Given the description of an element on the screen output the (x, y) to click on. 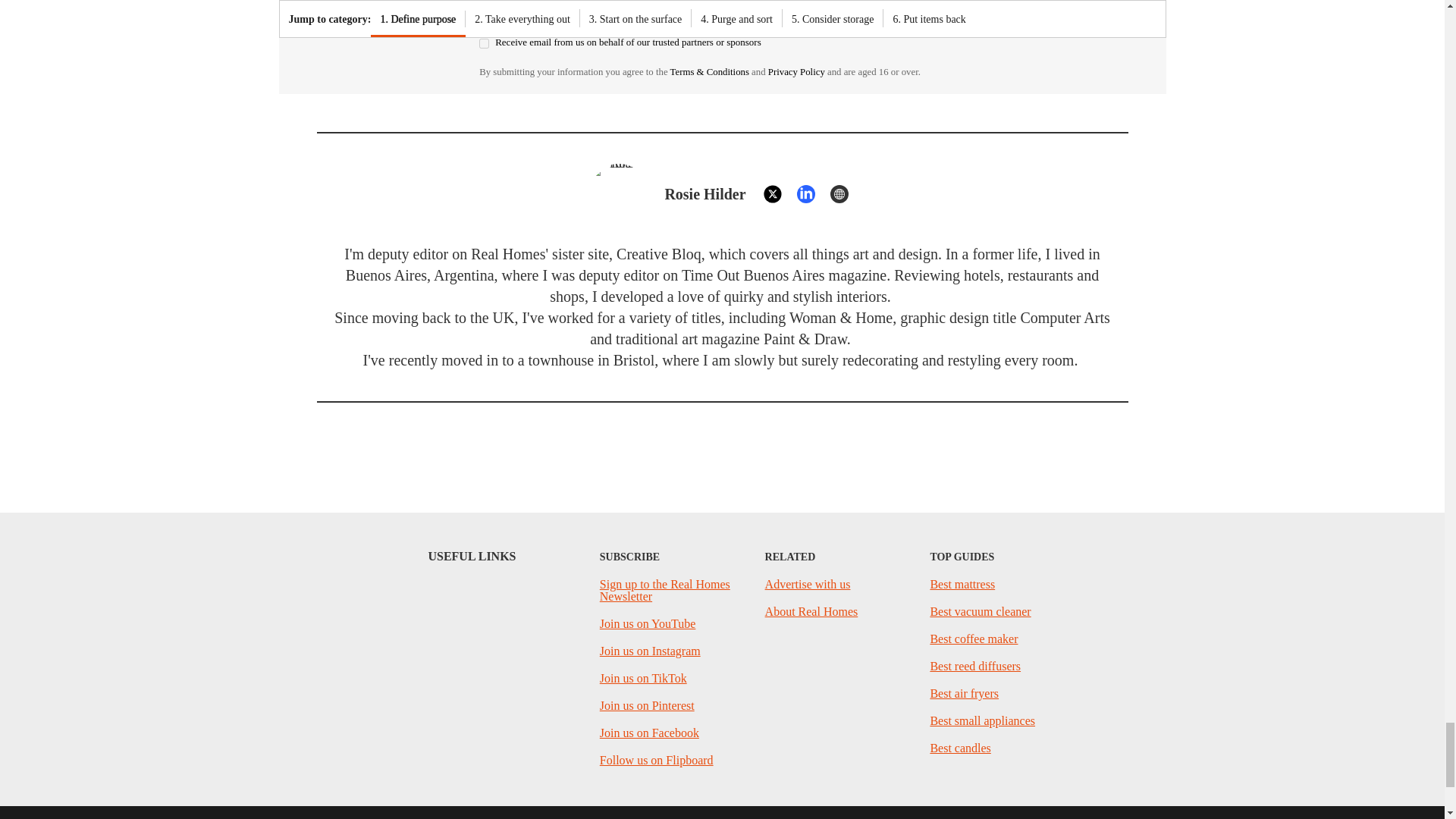
on (484, 43)
Sign me up (879, 2)
on (484, 22)
